Given the description of an element on the screen output the (x, y) to click on. 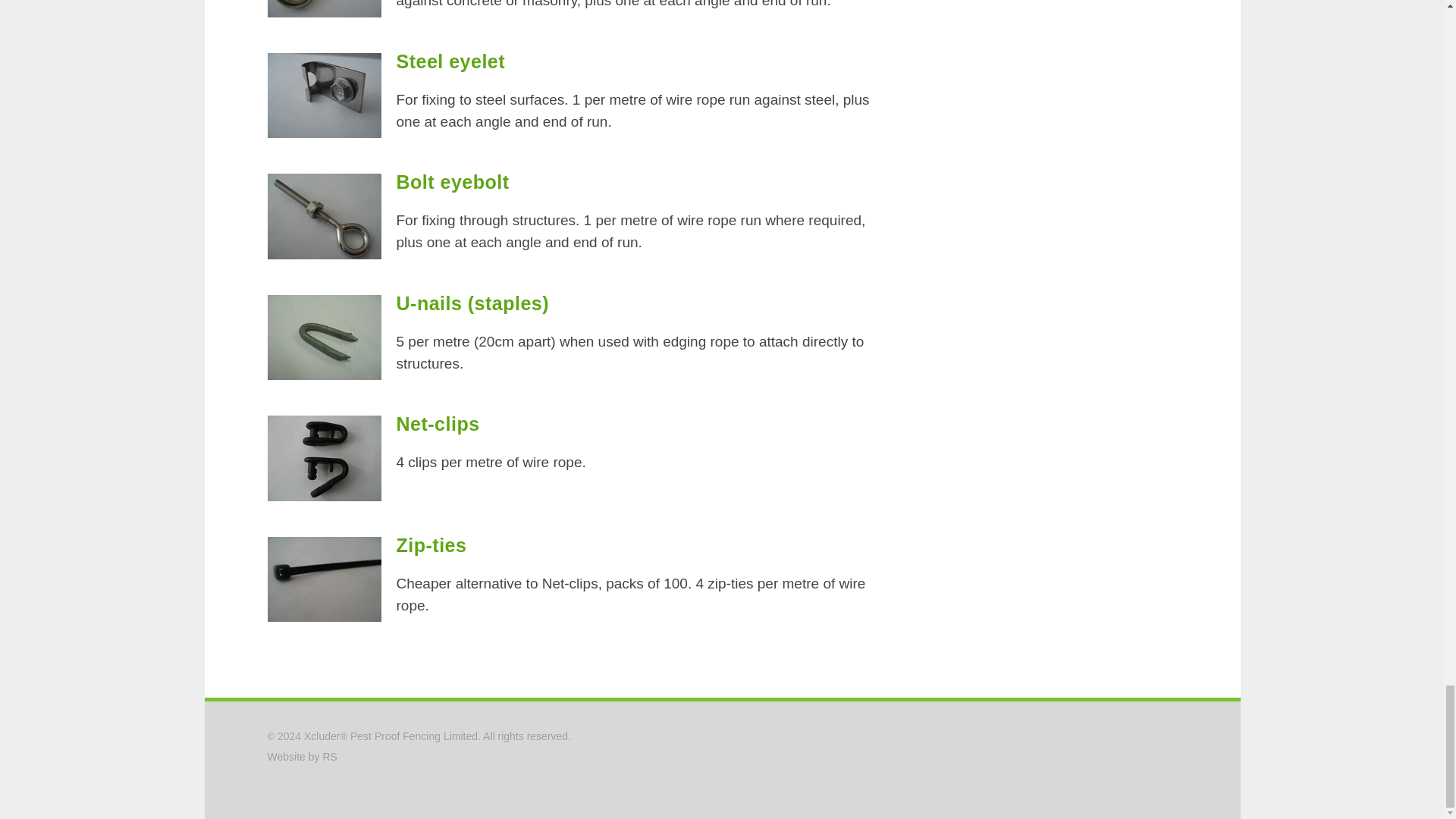
Website by RS (301, 756)
